Given the description of an element on the screen output the (x, y) to click on. 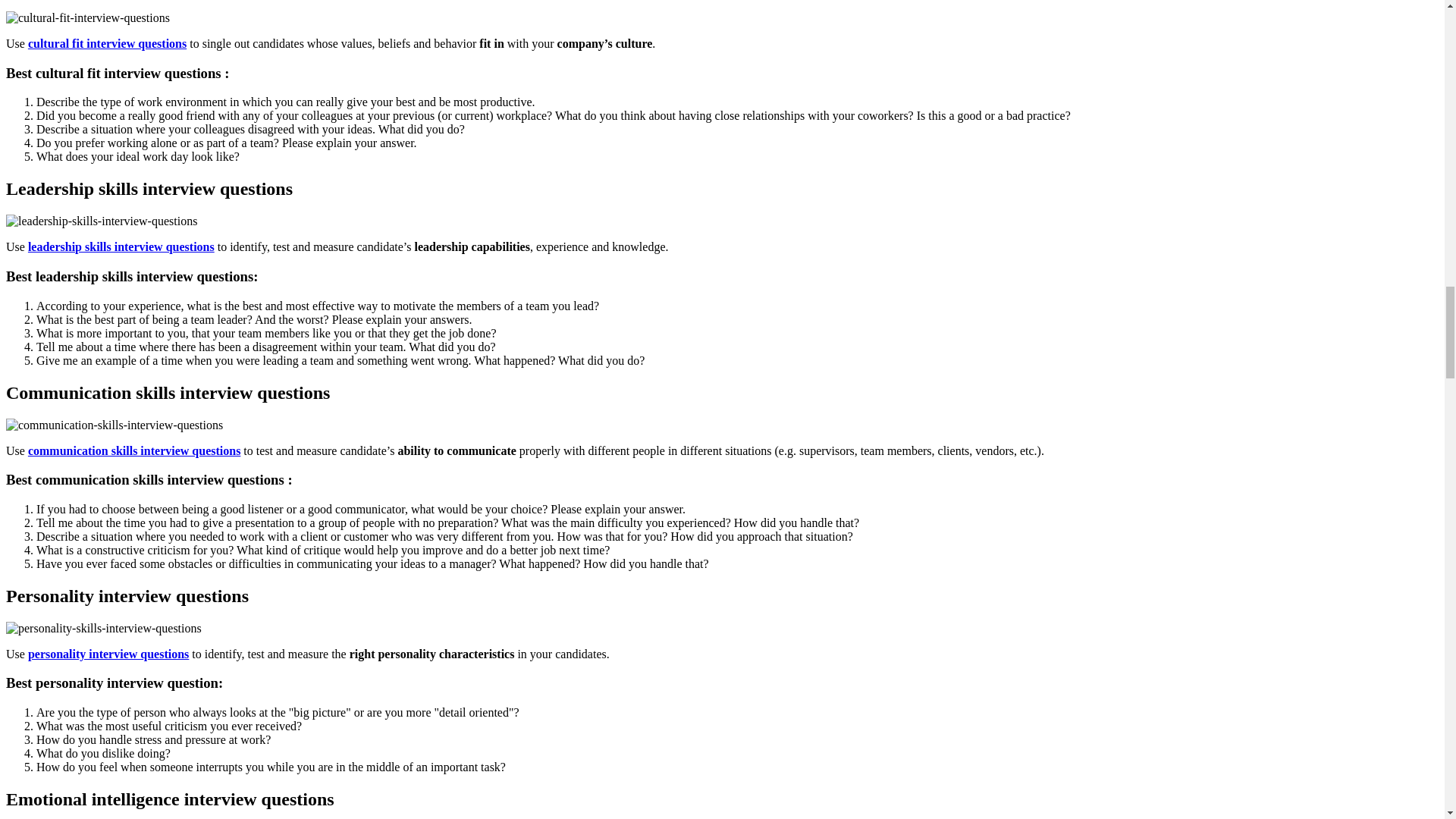
personality-skills-interview-questions (103, 628)
cultural-fit-interview-questions (87, 18)
communication-skills-interview-questions (113, 425)
leadership skills interview questions (120, 246)
leadership-skills-interview-questions (100, 221)
cultural fit interview questions (106, 42)
